Given the description of an element on the screen output the (x, y) to click on. 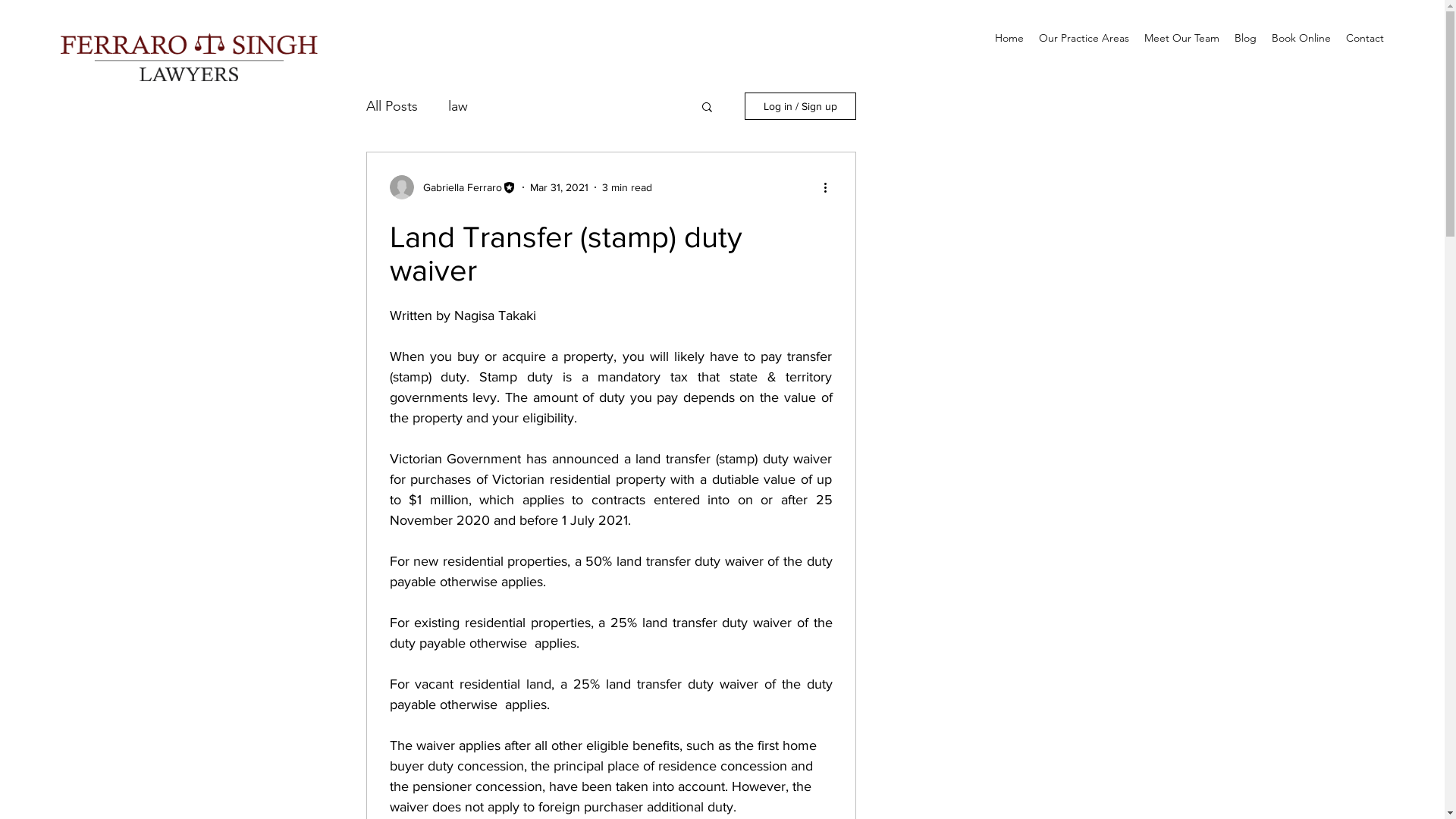
Meet Our Team Element type: text (1181, 37)
Book Online Element type: text (1301, 37)
Blog Element type: text (1245, 37)
Our Practice Areas Element type: text (1083, 37)
All Posts Element type: text (391, 105)
law Element type: text (457, 105)
Contact Element type: text (1364, 37)
Home Element type: text (1009, 37)
Log in / Sign up Element type: text (800, 105)
